Given the description of an element on the screen output the (x, y) to click on. 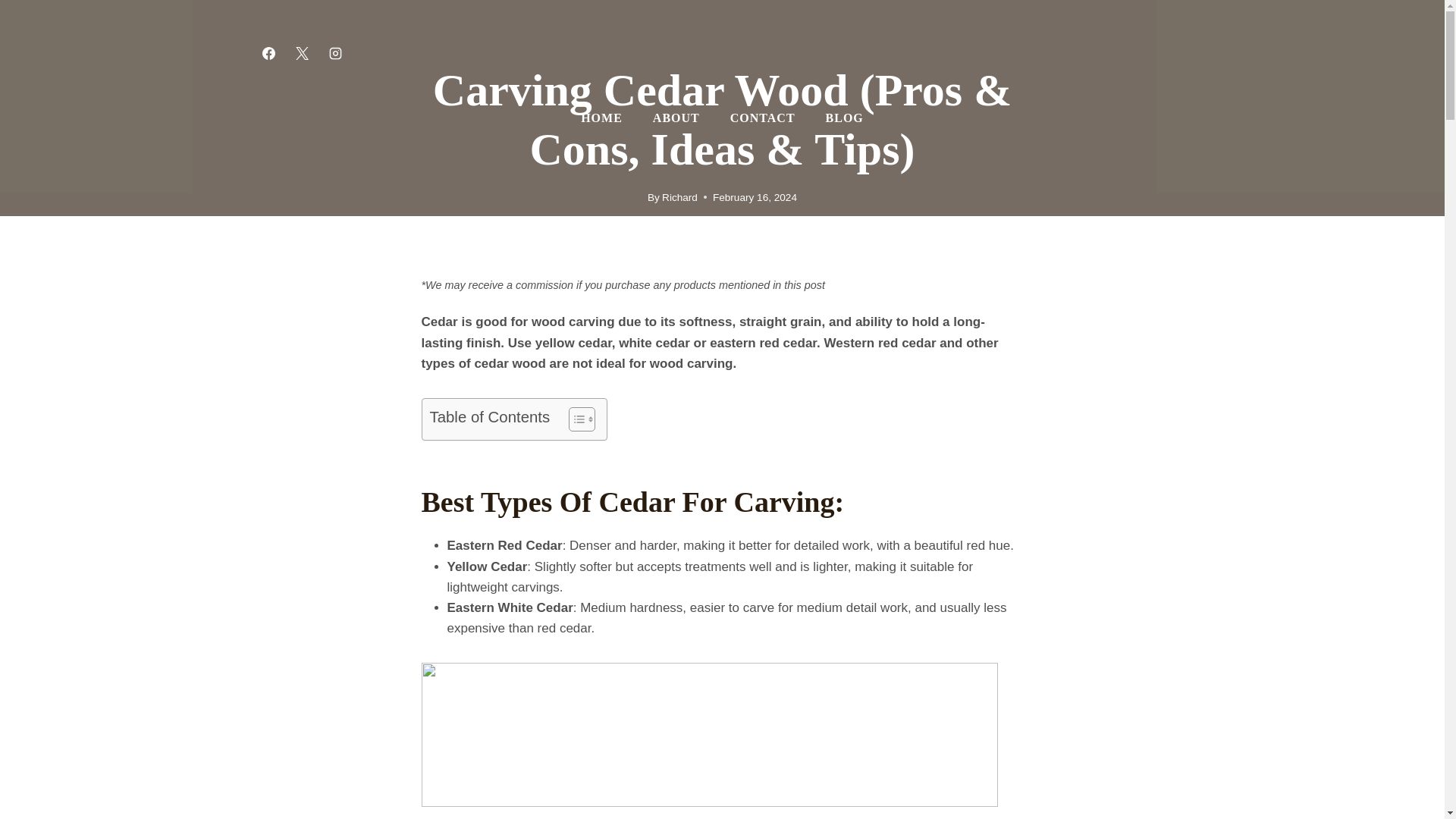
BLOG (844, 118)
CONTACT (762, 118)
ABOUT (675, 118)
HOME (601, 118)
Richard (679, 197)
